Given the description of an element on the screen output the (x, y) to click on. 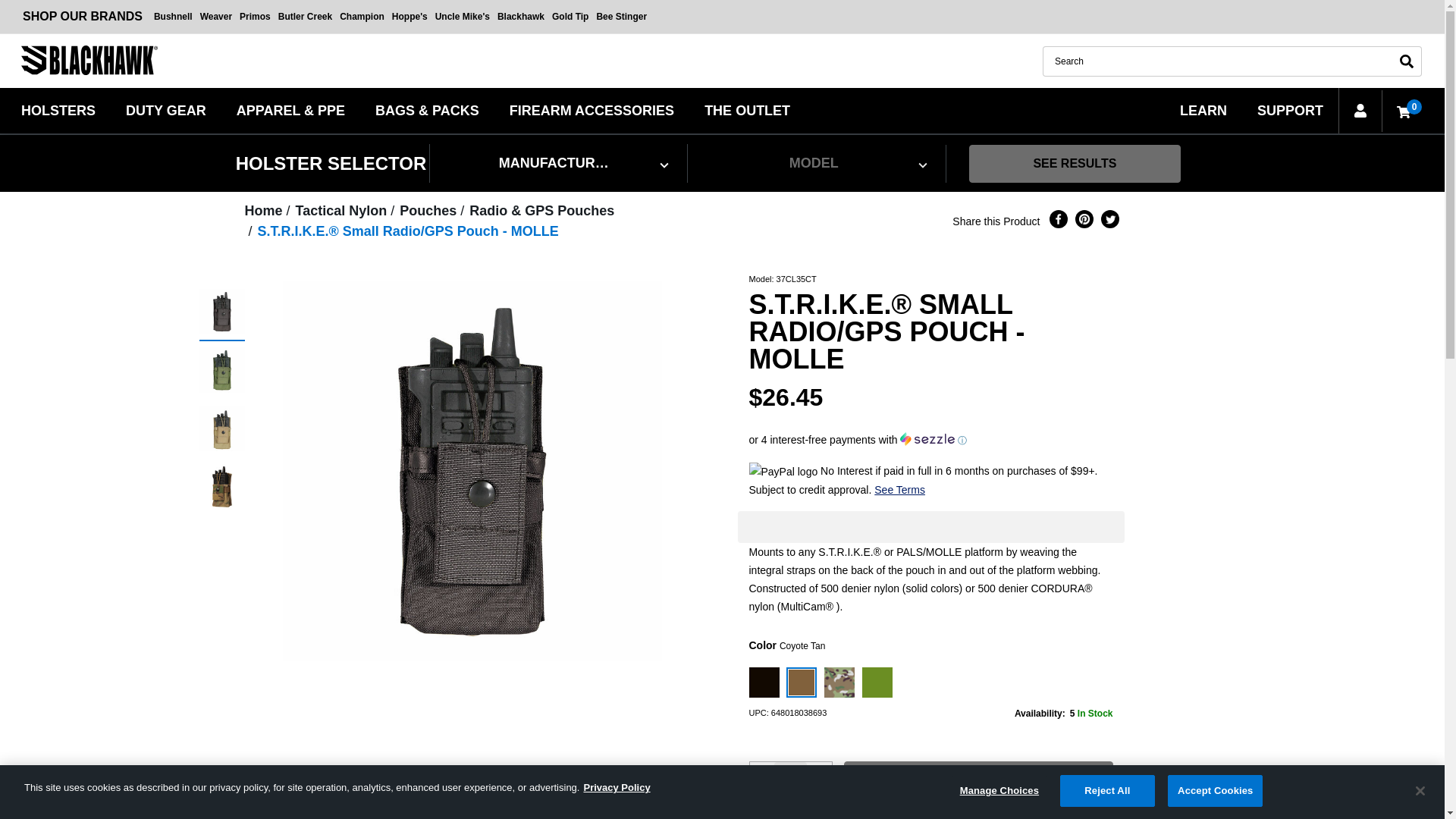
Butler Creek (305, 16)
Uncle Mike's (461, 16)
Bushnell (172, 16)
HOLSTERS (58, 109)
Hoppe's (409, 16)
Blackhawk Home (88, 60)
Primos (255, 16)
Bee Stinger (621, 16)
Cart 0 Items (1401, 110)
Blackhawk (520, 16)
Weaver (215, 16)
Champion (362, 16)
Gold Tip (570, 16)
